Given the description of an element on the screen output the (x, y) to click on. 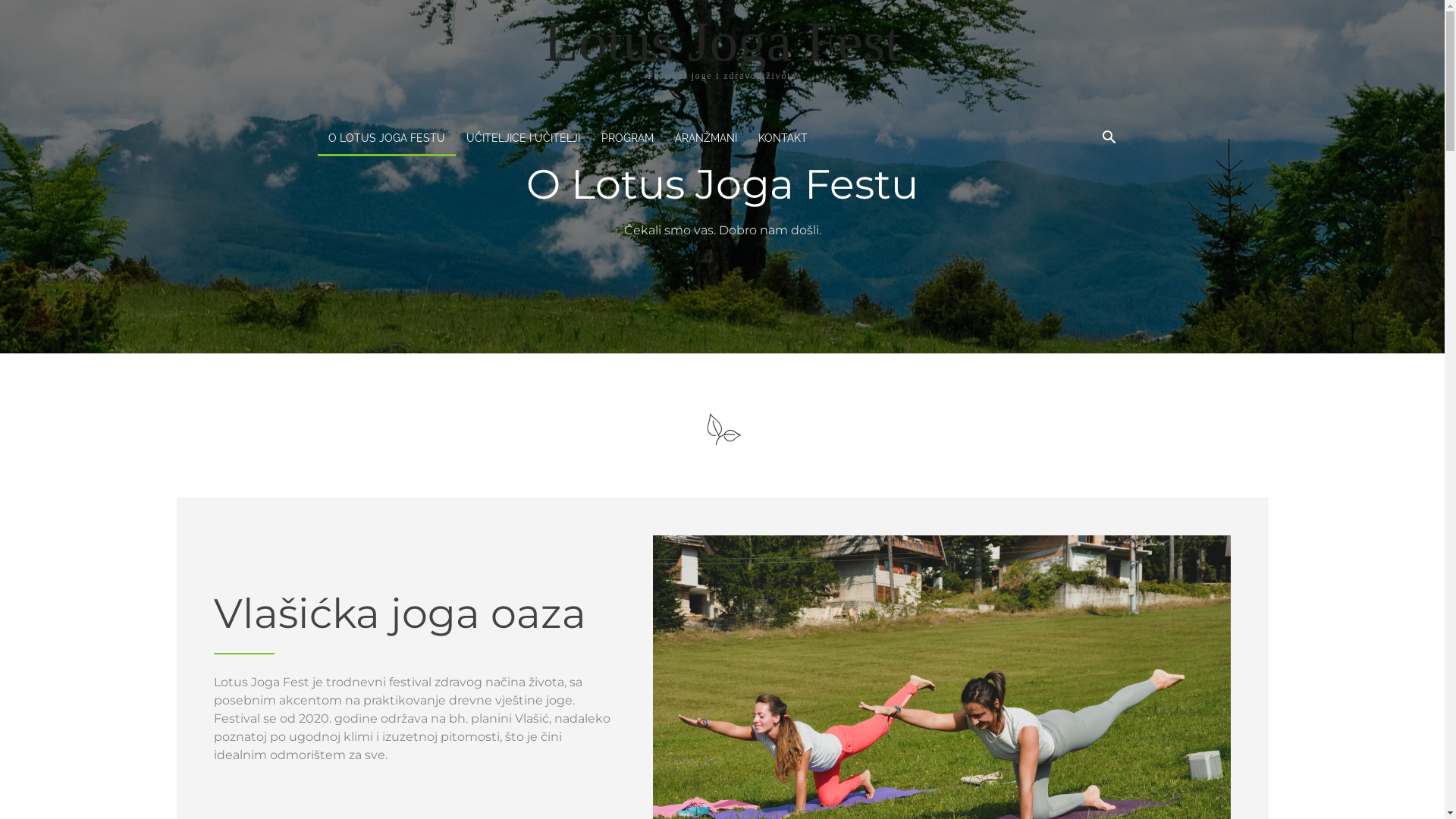
KONTAKT Element type: text (782, 137)
Search Element type: text (1085, 198)
Lotus Joga Fest Element type: text (721, 40)
PROGRAM Element type: text (626, 137)
O LOTUS JOGA FESTU Element type: text (385, 137)
